Given the description of an element on the screen output the (x, y) to click on. 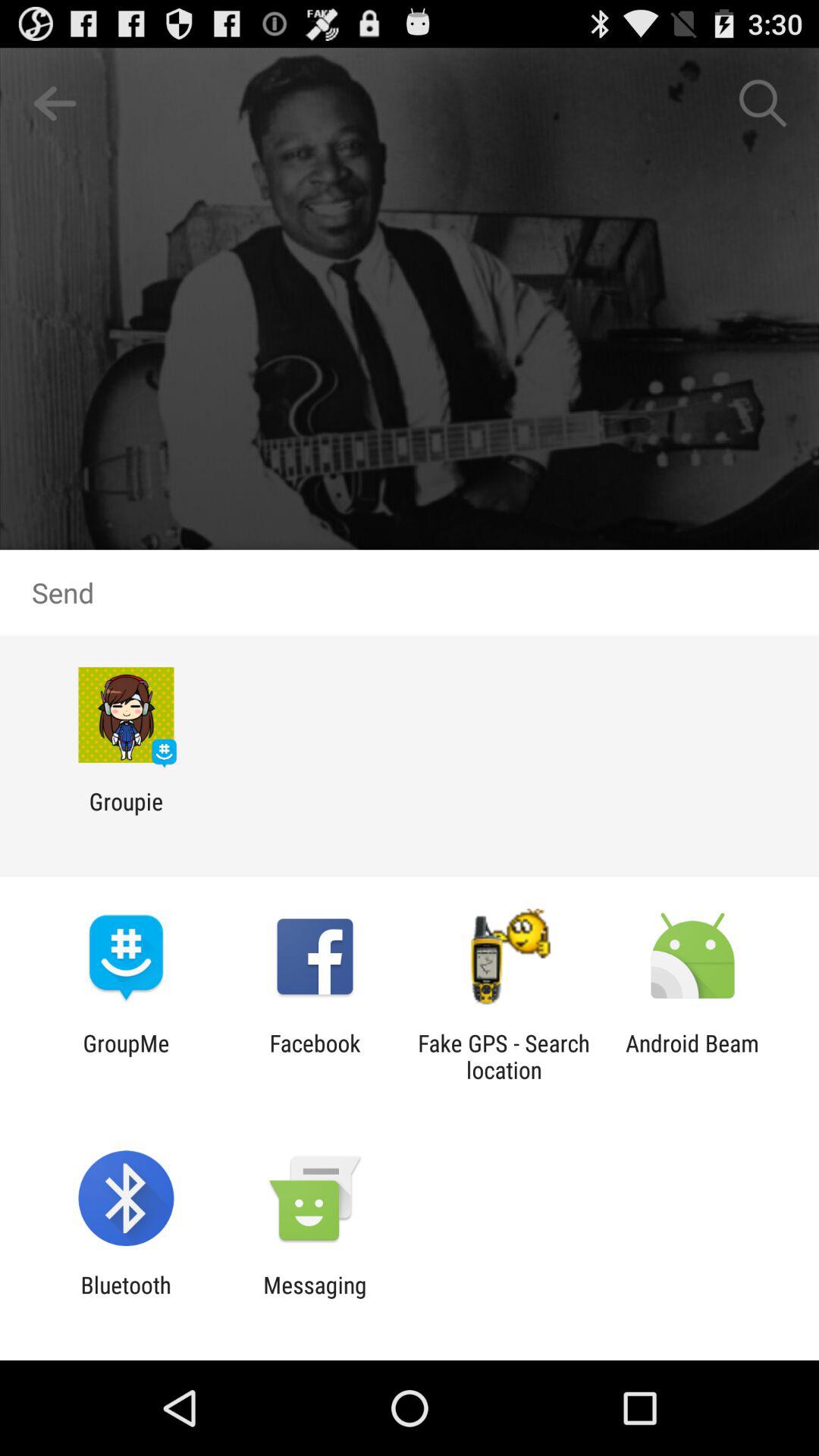
click app to the left of messaging item (125, 1298)
